Given the description of an element on the screen output the (x, y) to click on. 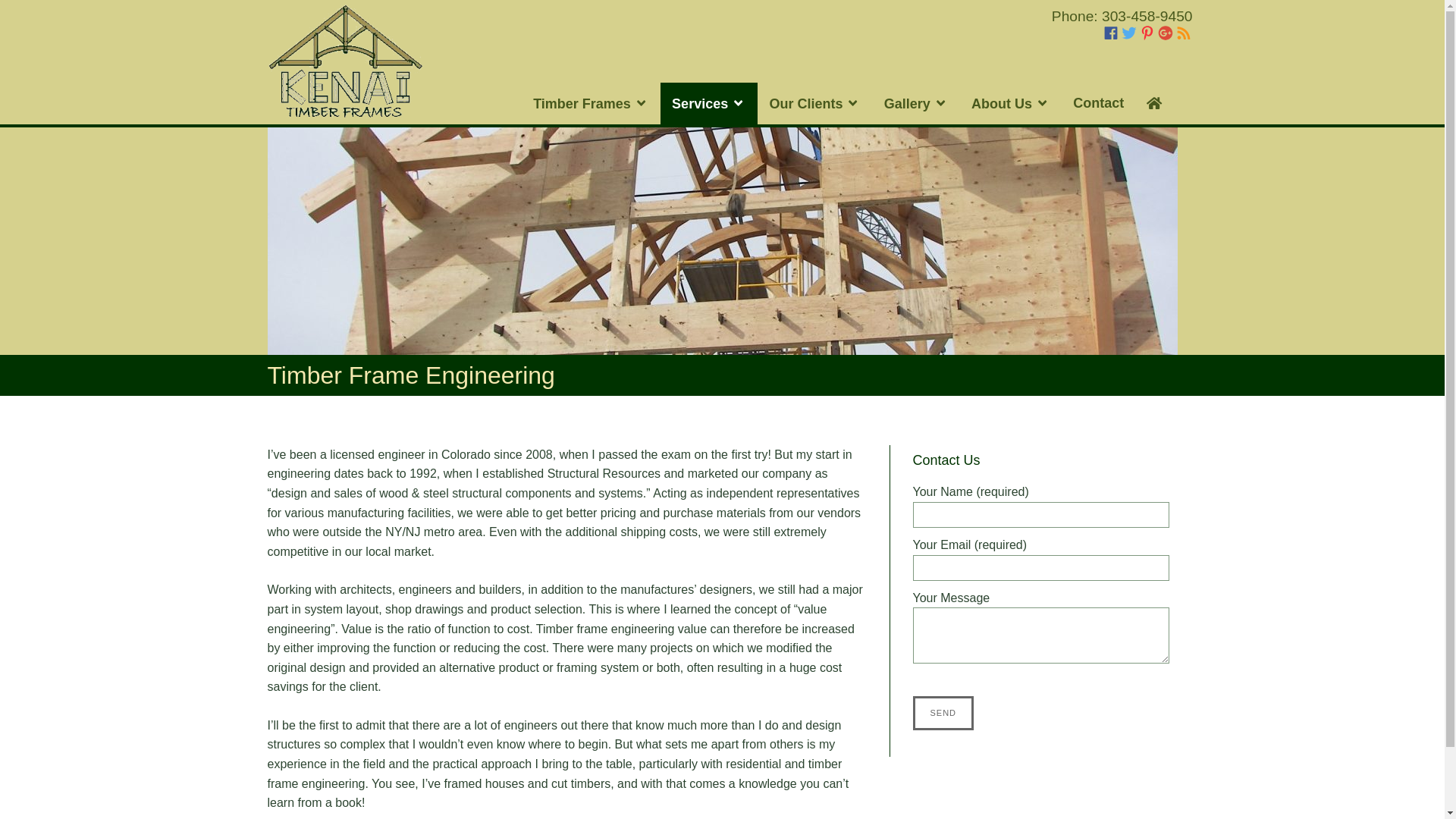
About Us (1010, 103)
Timber Frames (591, 103)
Kenai Timber Frames (344, 60)
Our Clients (814, 103)
Send (943, 713)
Send (943, 713)
Contact (1098, 102)
Gallery (915, 103)
Services (709, 103)
